Given the description of an element on the screen output the (x, y) to click on. 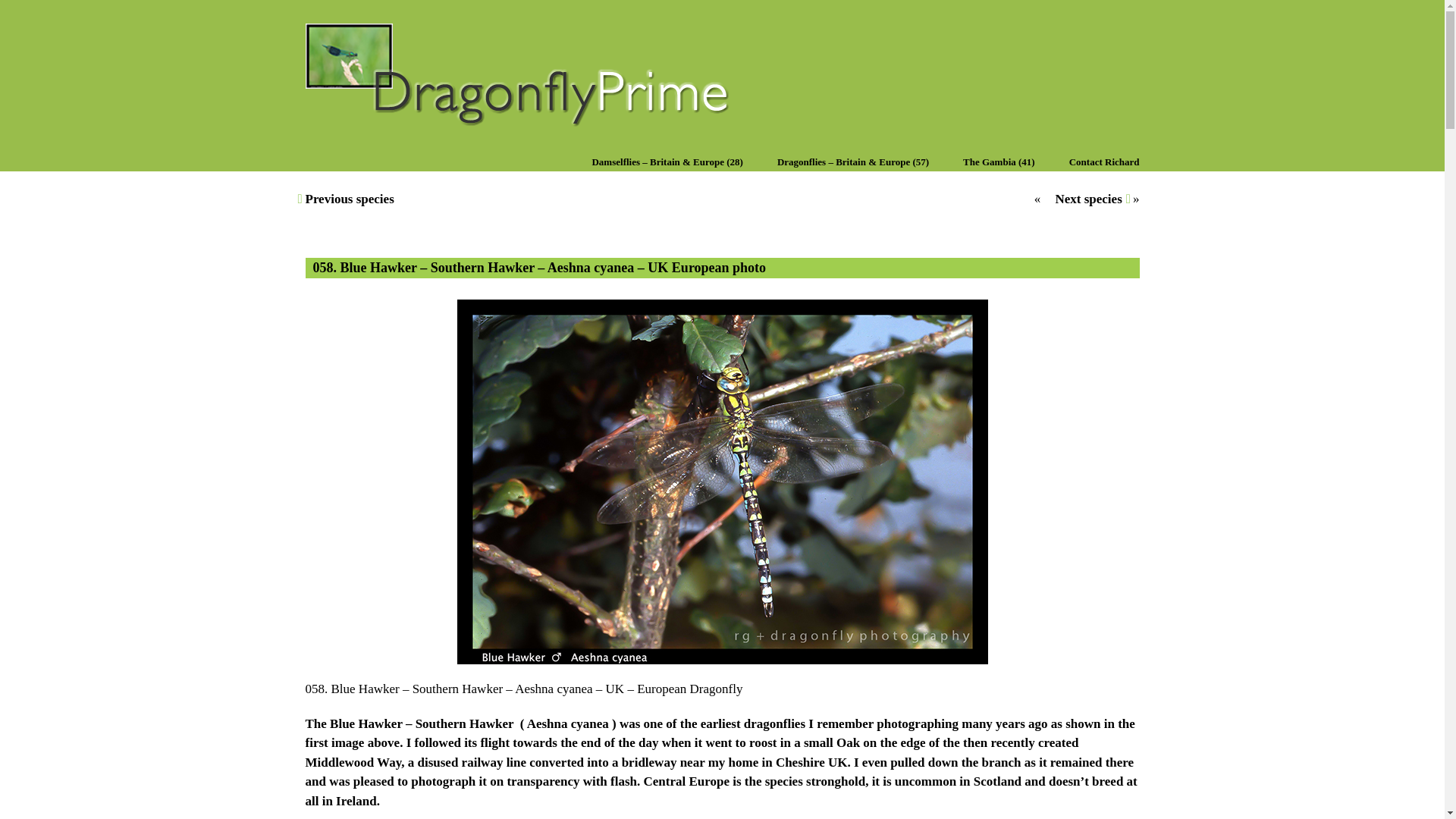
Contact Richard (1104, 160)
Next species (1087, 199)
Previous species (348, 199)
